Given the description of an element on the screen output the (x, y) to click on. 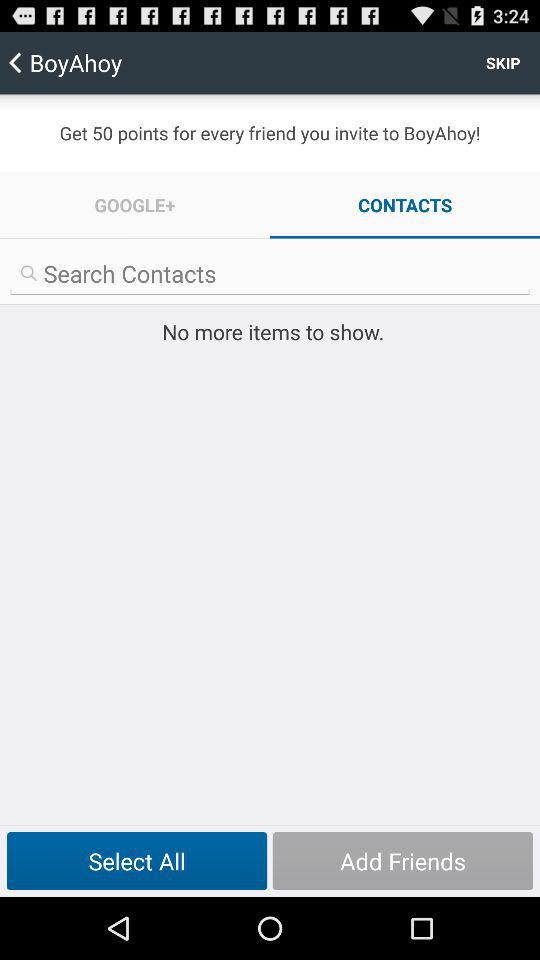
click the button at the bottom left corner (136, 861)
